Given the description of an element on the screen output the (x, y) to click on. 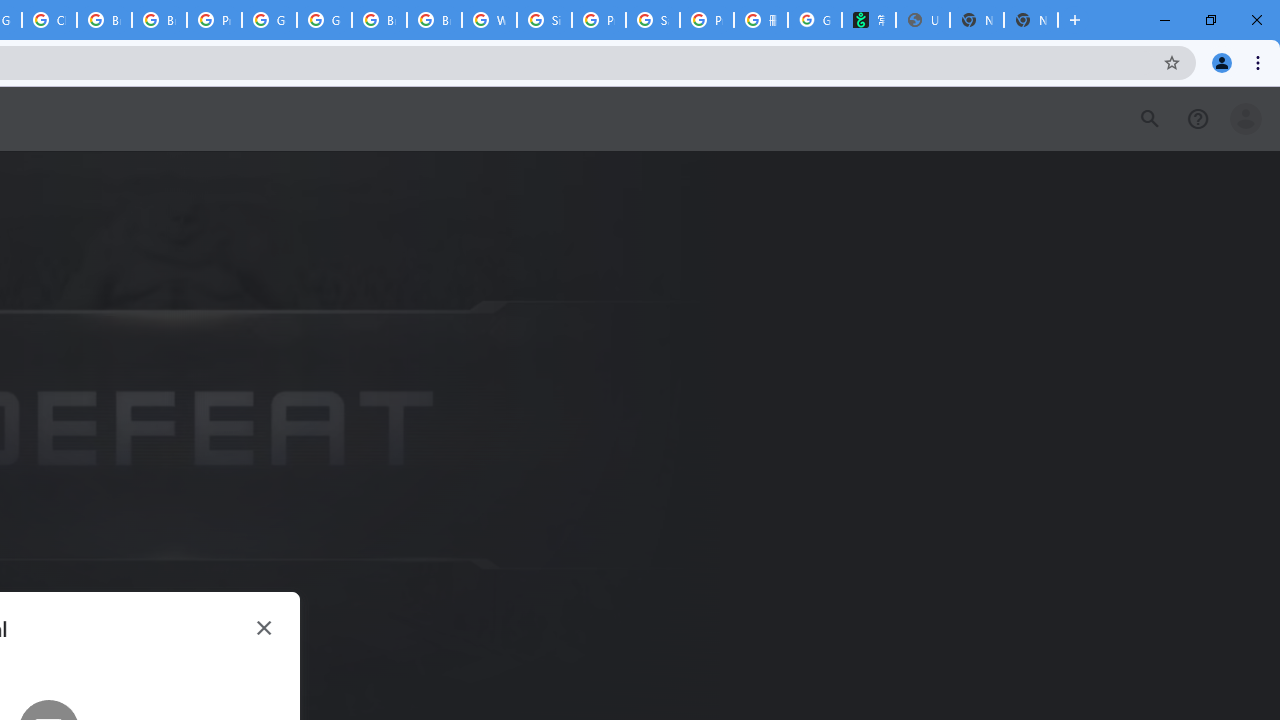
Sign in - Google Accounts (544, 20)
Untitled (922, 20)
